Given the description of an element on the screen output the (x, y) to click on. 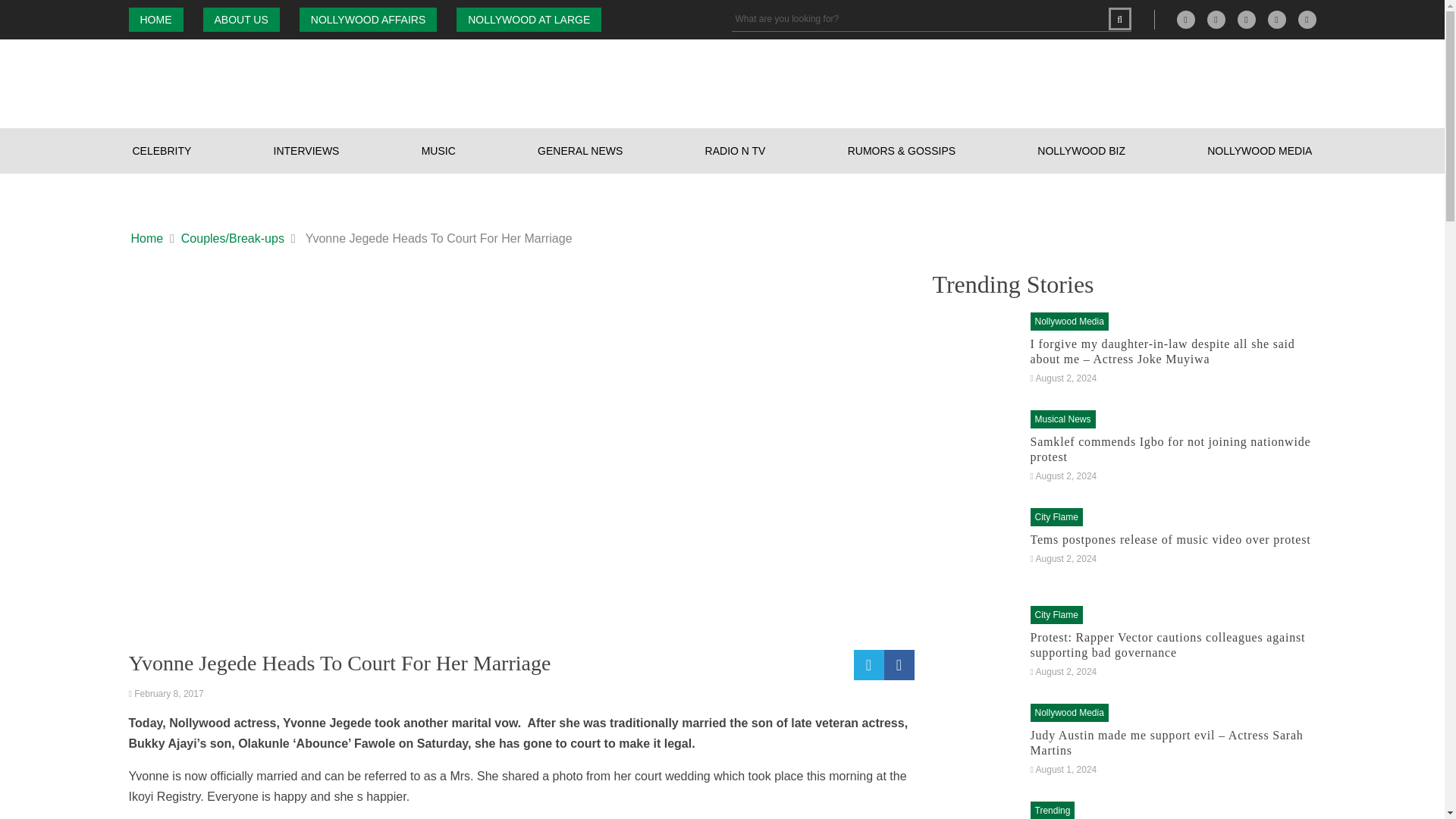
Search (1119, 18)
ABOUT US (241, 19)
GENERAL NEWS (580, 150)
NOLLYWOOD AFFAIRS (367, 19)
INTERVIEWS (306, 150)
HOME (156, 19)
NOLLYWOOD AT LARGE (529, 19)
instagram (1246, 19)
Home (147, 239)
MUSIC (438, 150)
Facebook (1216, 19)
NOLLYWOOD BIZ (1081, 150)
Youtube (1307, 19)
NOLLYWOOD MEDIA (1260, 150)
CELEBRITY (162, 150)
